Given the description of an element on the screen output the (x, y) to click on. 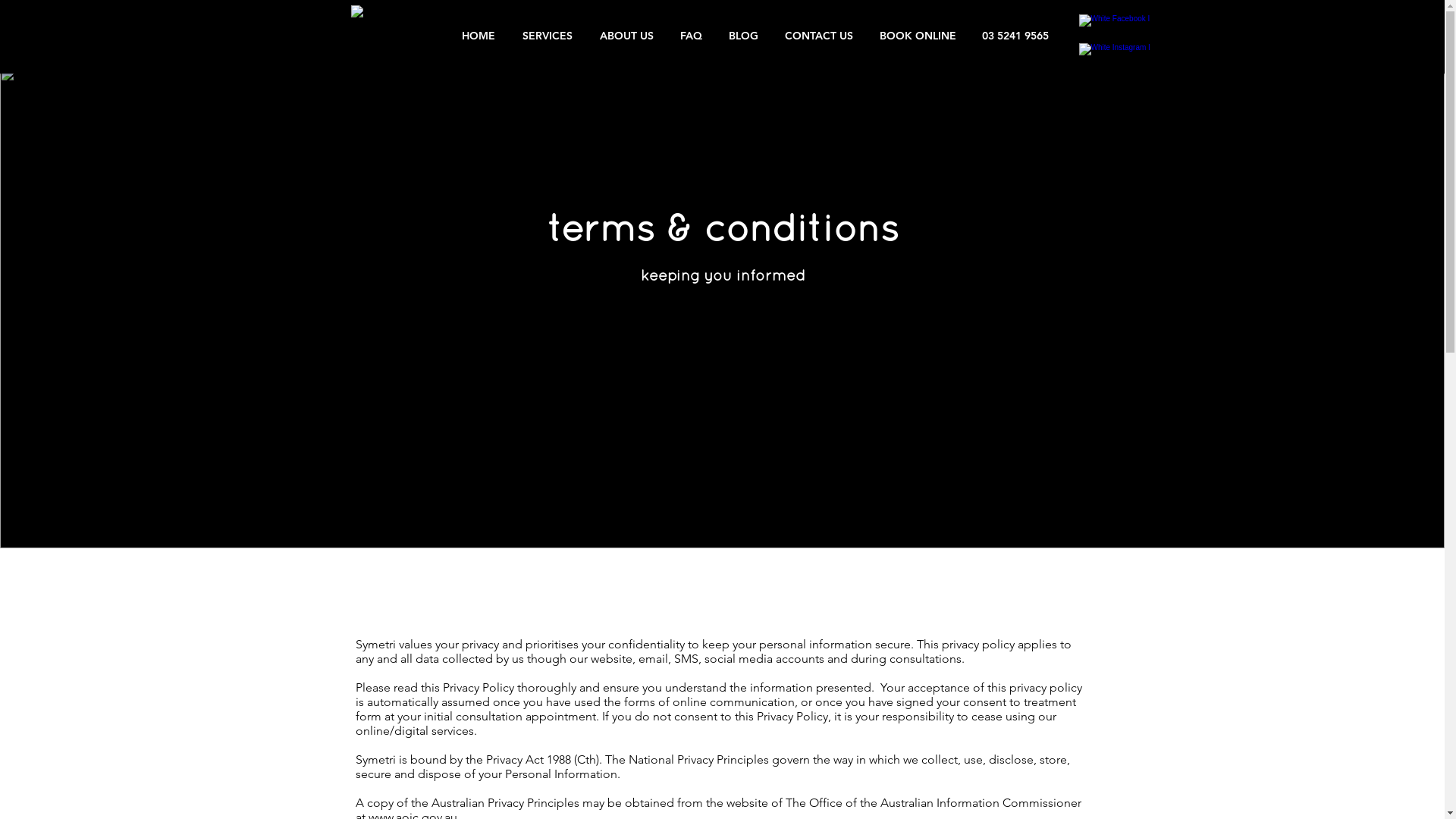
HOME Element type: text (477, 35)
BLOG Element type: text (743, 35)
FAQ Element type: text (691, 35)
ABOUT US Element type: text (625, 35)
03 5241 9565 Element type: text (1014, 35)
SERVICES Element type: text (546, 35)
BOOK ONLINE Element type: text (917, 35)
CONTACT US Element type: text (818, 35)
